Given the description of an element on the screen output the (x, y) to click on. 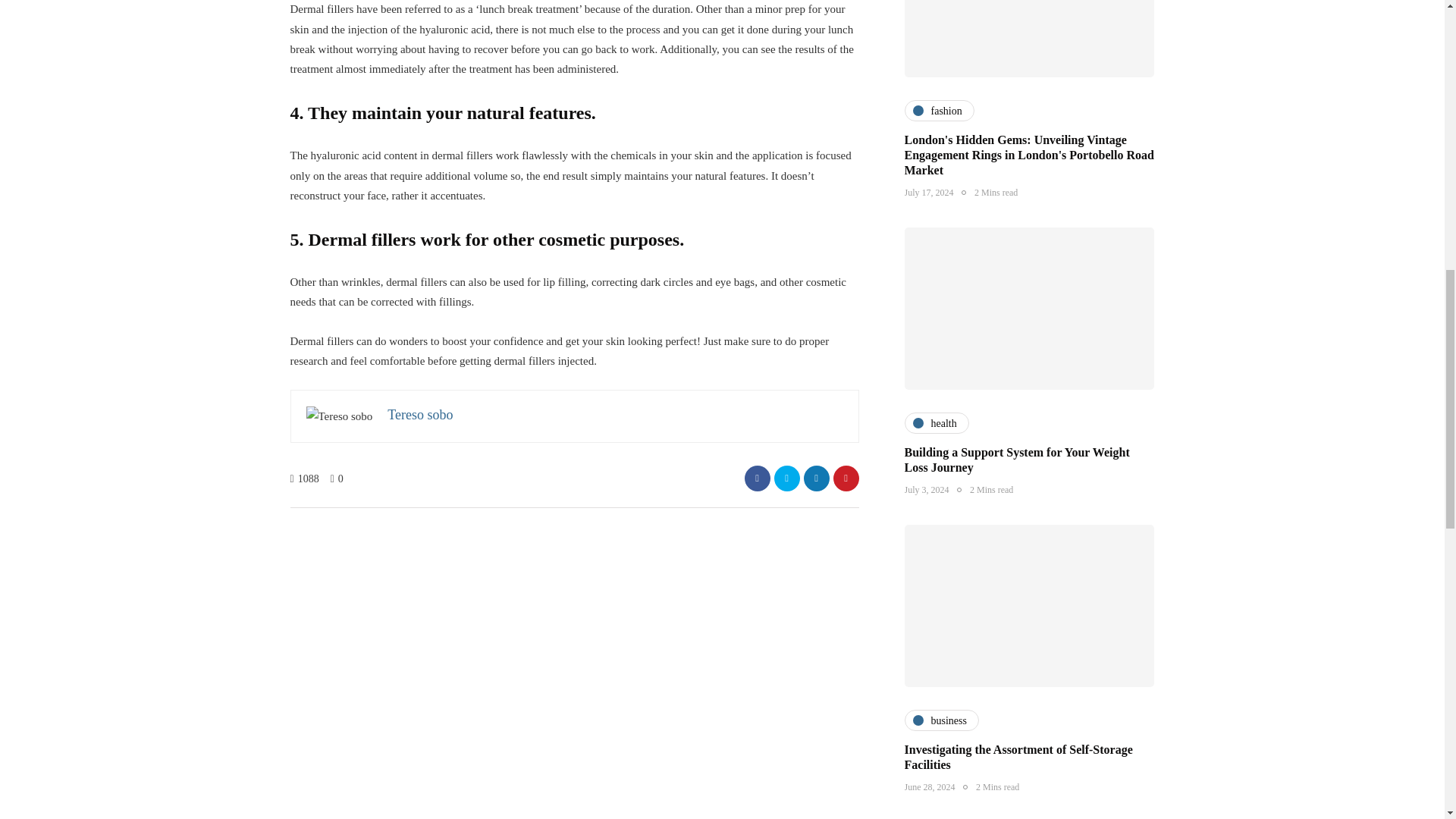
Tereso sobo (419, 414)
fashion (939, 110)
Share with LinkedIn (816, 478)
Tweet this (786, 478)
Pin this (845, 478)
Share with Facebook (757, 478)
